Given the description of an element on the screen output the (x, y) to click on. 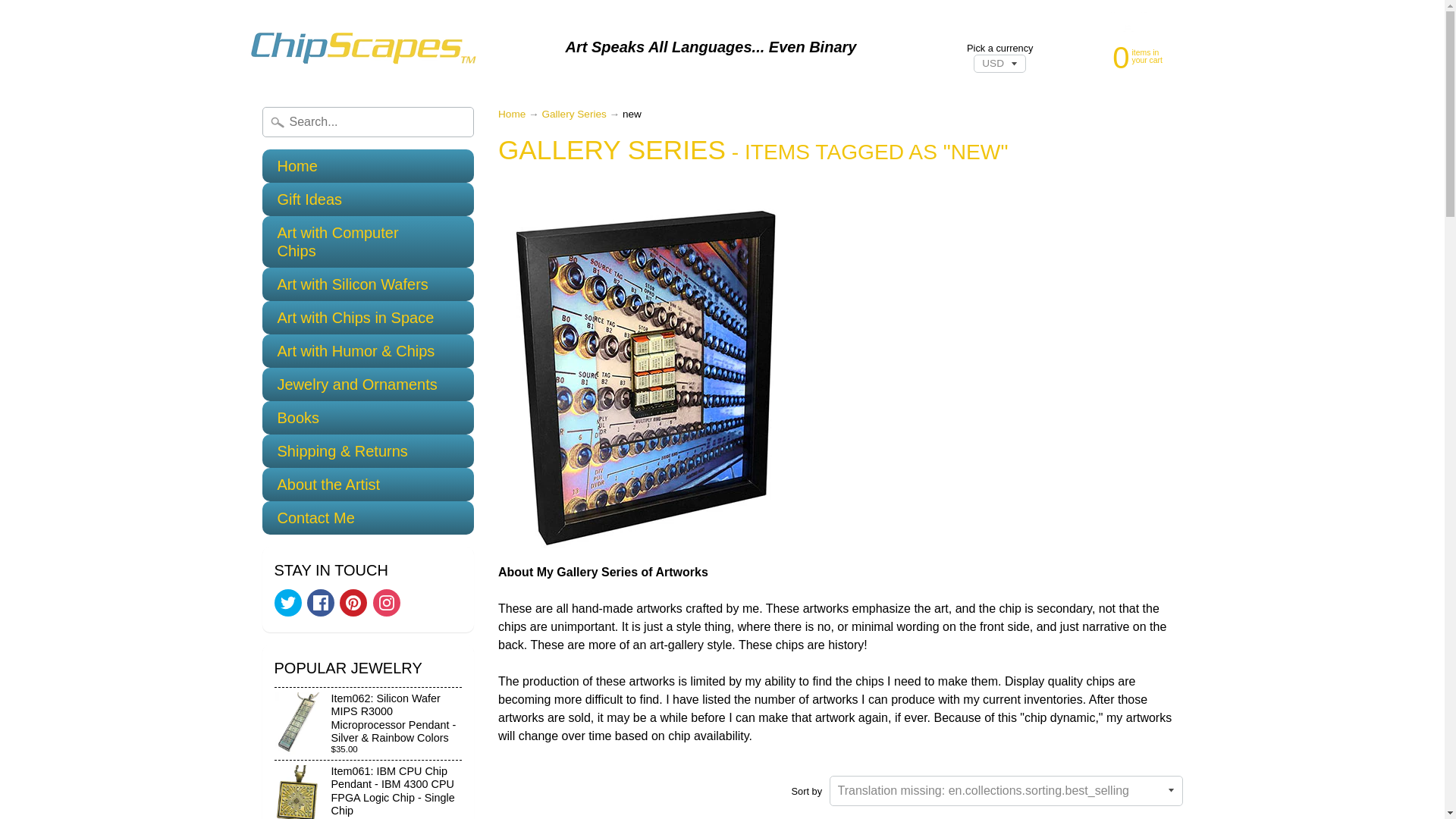
Jewelry and Ornaments (368, 384)
Home (511, 113)
Pinterest (1122, 56)
Facebook (352, 602)
Back to the home page (320, 602)
Instagram (511, 113)
Contact Me (386, 602)
Gallery Series (368, 517)
